Given the description of an element on the screen output the (x, y) to click on. 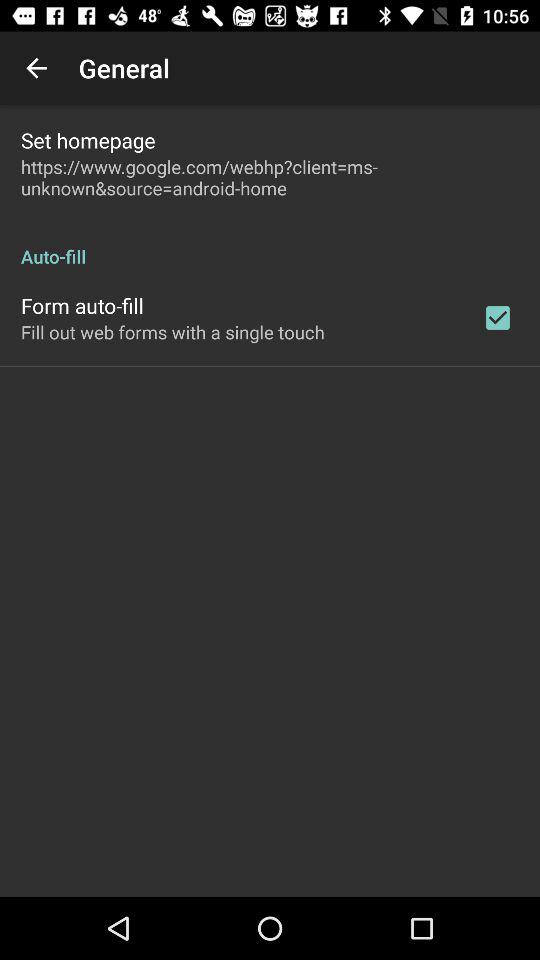
jump to https www google (270, 177)
